Given the description of an element on the screen output the (x, y) to click on. 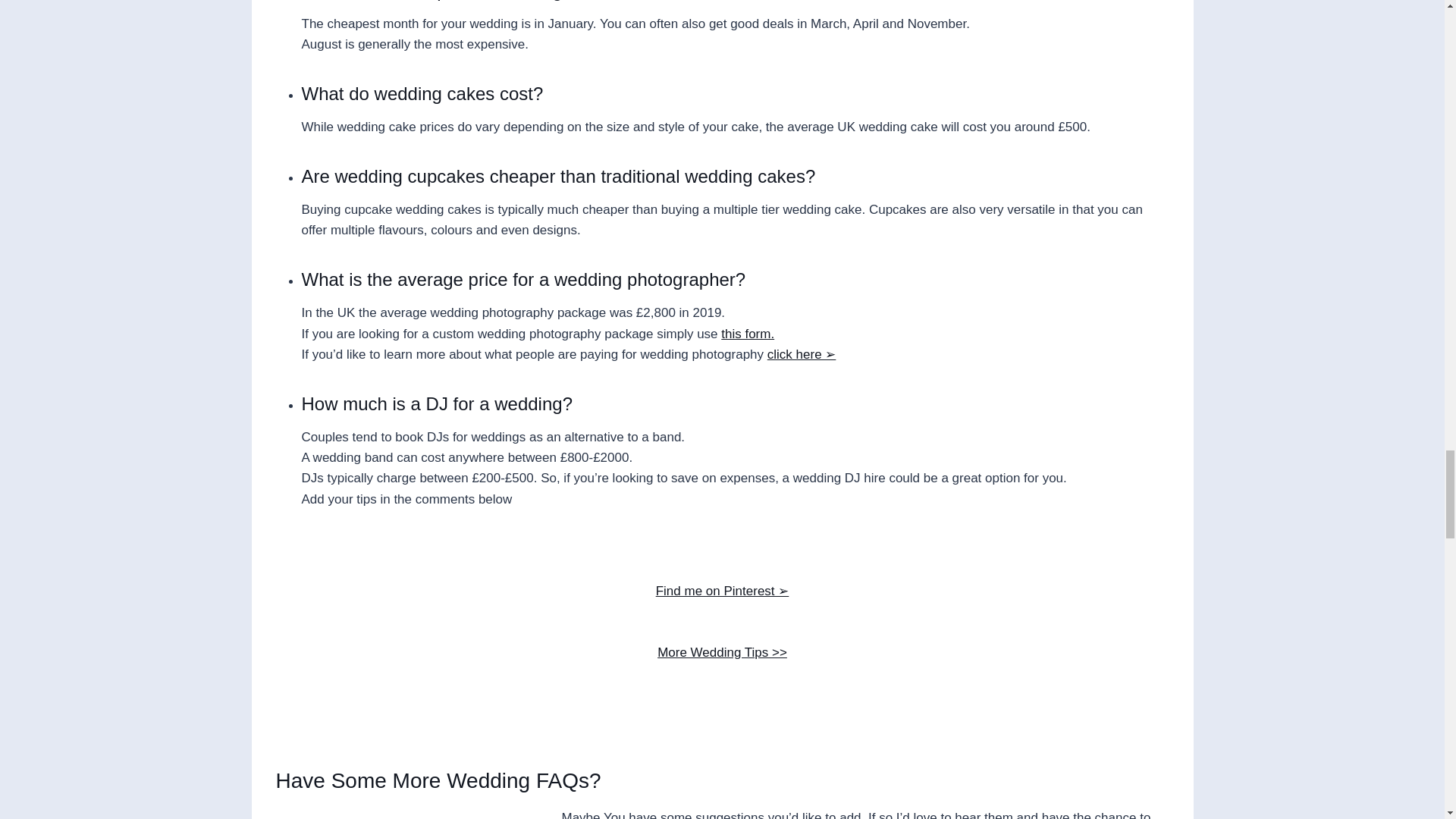
How to Plan a Wedding - FAQs. 3 (406, 816)
this form. (747, 333)
